Given the description of an element on the screen output the (x, y) to click on. 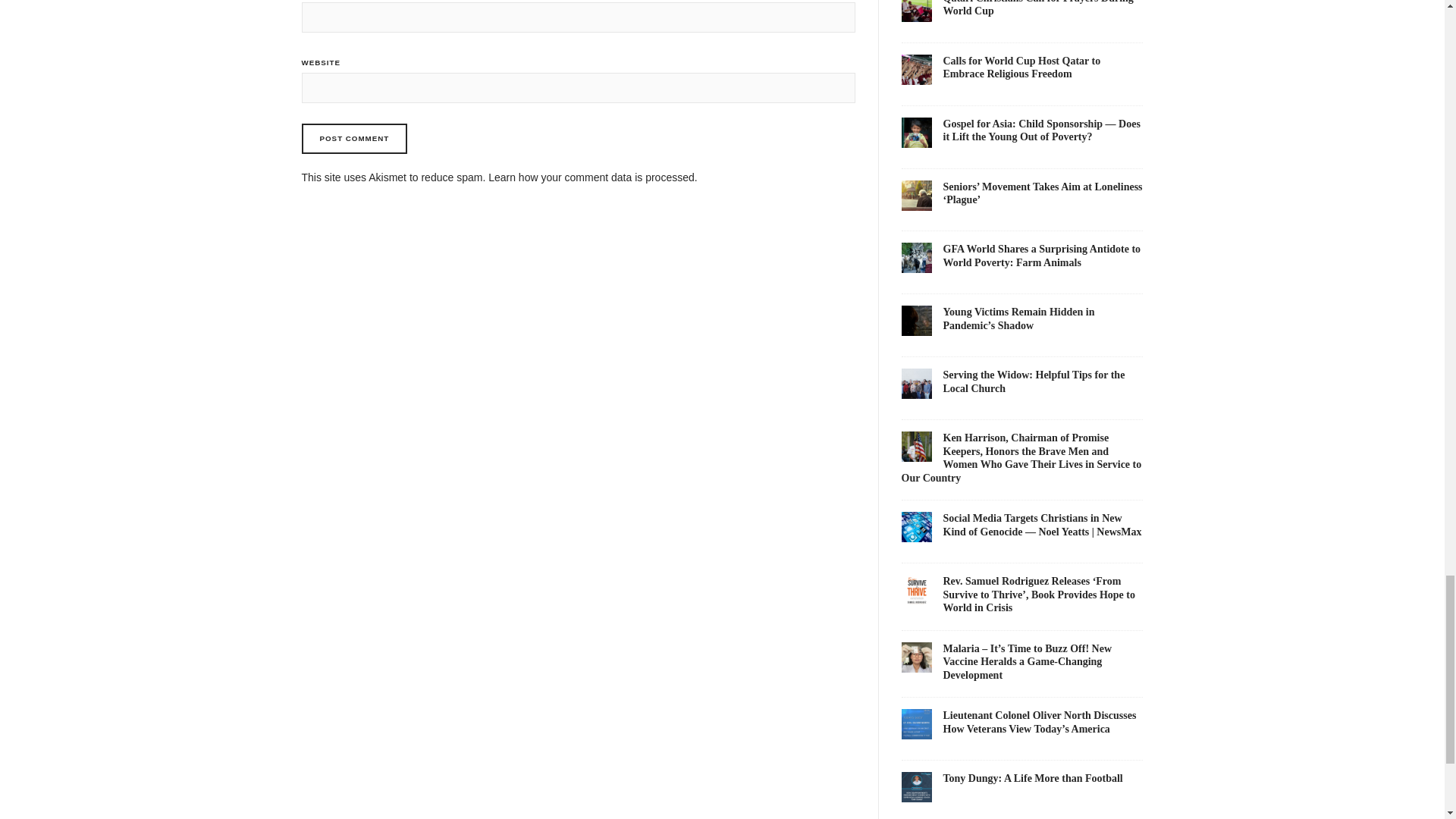
Post Comment (354, 138)
